Given the description of an element on the screen output the (x, y) to click on. 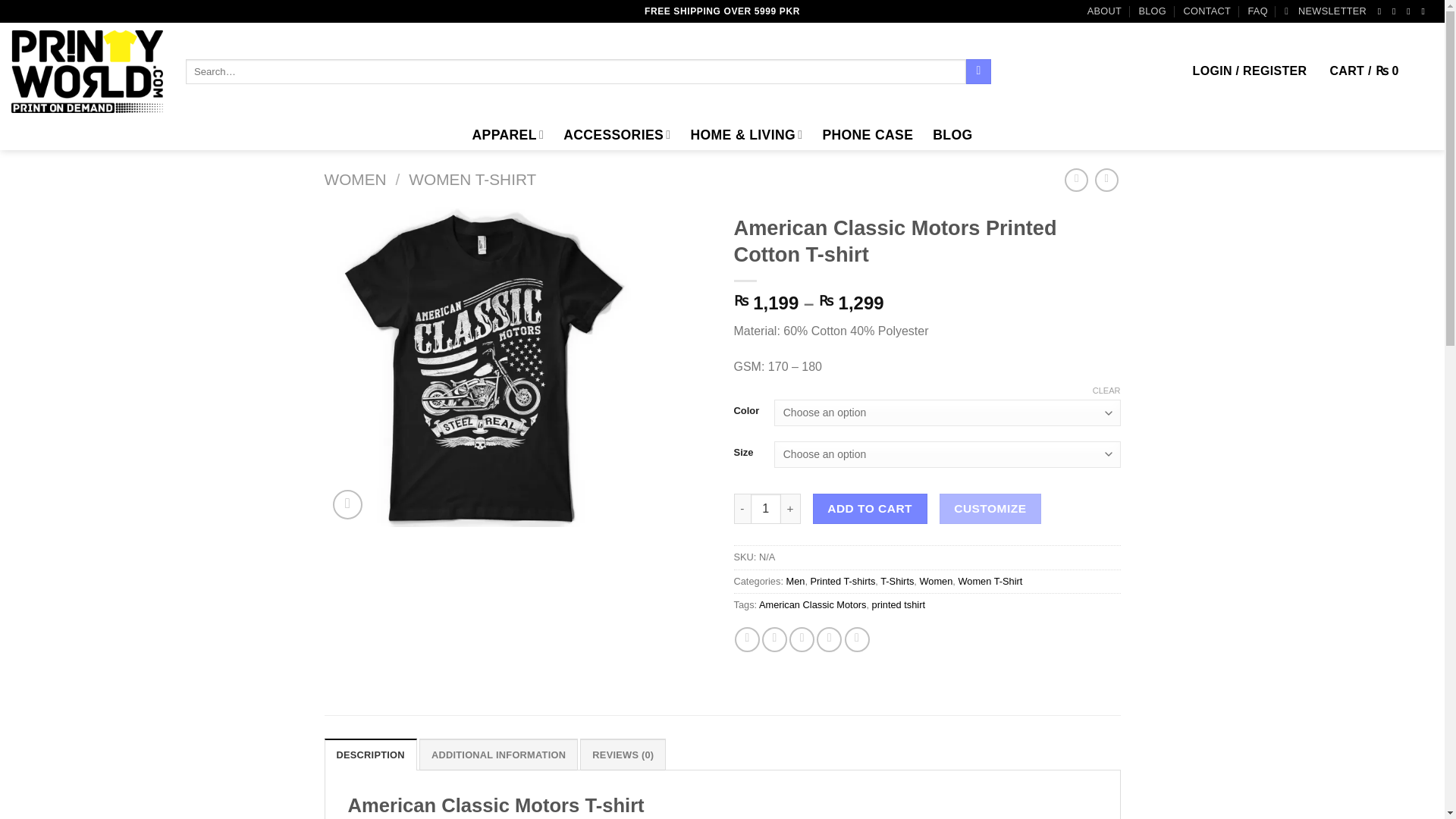
Sign up for Newsletter (1325, 11)
APPAREL (507, 134)
ABOUT (1104, 11)
Search (978, 71)
CONTACT (1206, 11)
1 (765, 508)
Cart (1380, 71)
ACCESSORIES (616, 134)
BLOG (1152, 11)
NEWSLETTER (1325, 11)
